Given the description of an element on the screen output the (x, y) to click on. 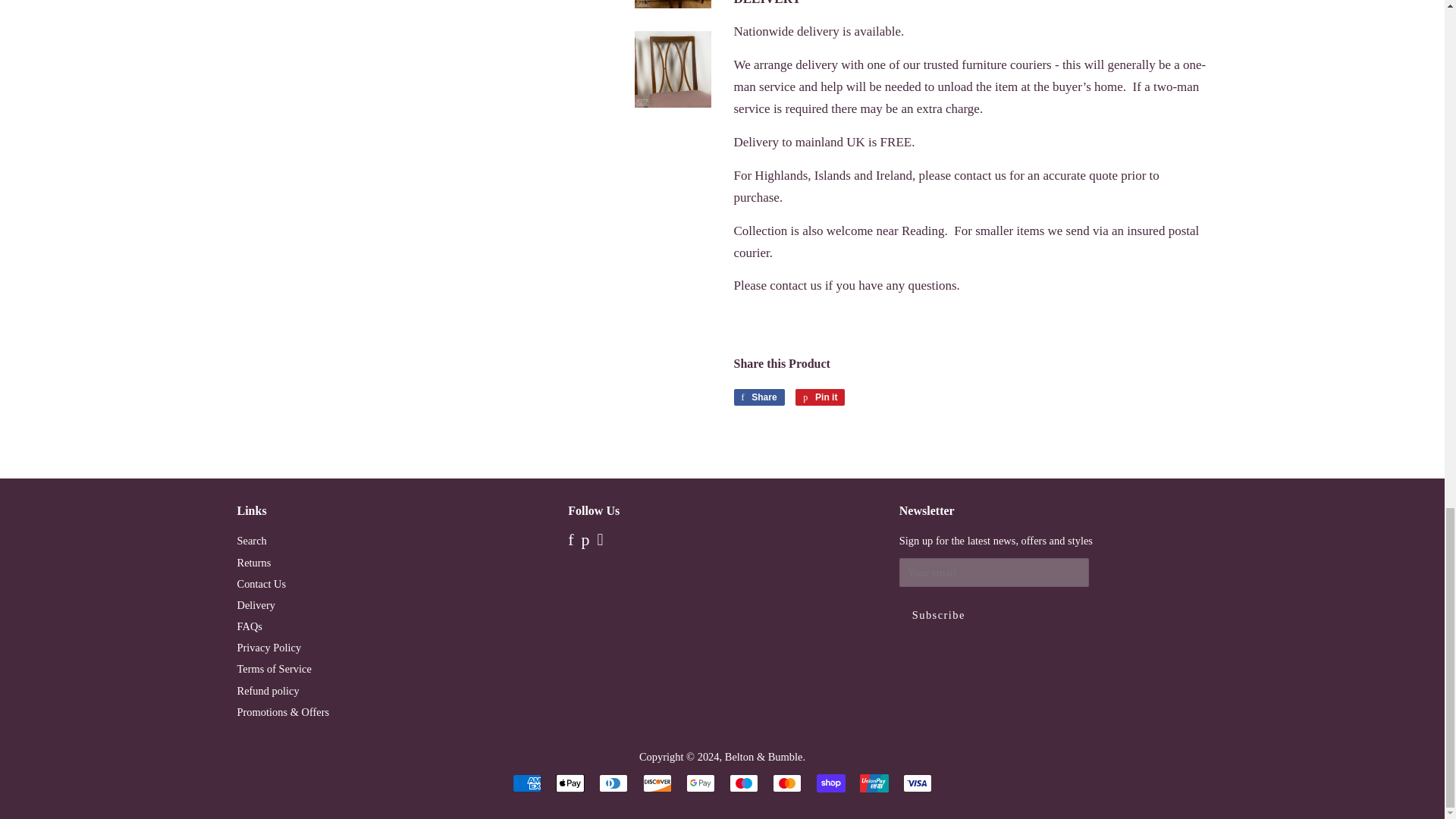
Diners Club (612, 782)
Google Pay (699, 782)
Apple Pay (570, 782)
Subscribe (938, 614)
Discover (657, 782)
American Express (526, 782)
Maestro (743, 782)
Mastercard (787, 782)
Pin on Pinterest (819, 397)
Union Pay (874, 782)
Shop Pay (830, 782)
Share on Facebook (758, 397)
Visa (916, 782)
